Given the description of an element on the screen output the (x, y) to click on. 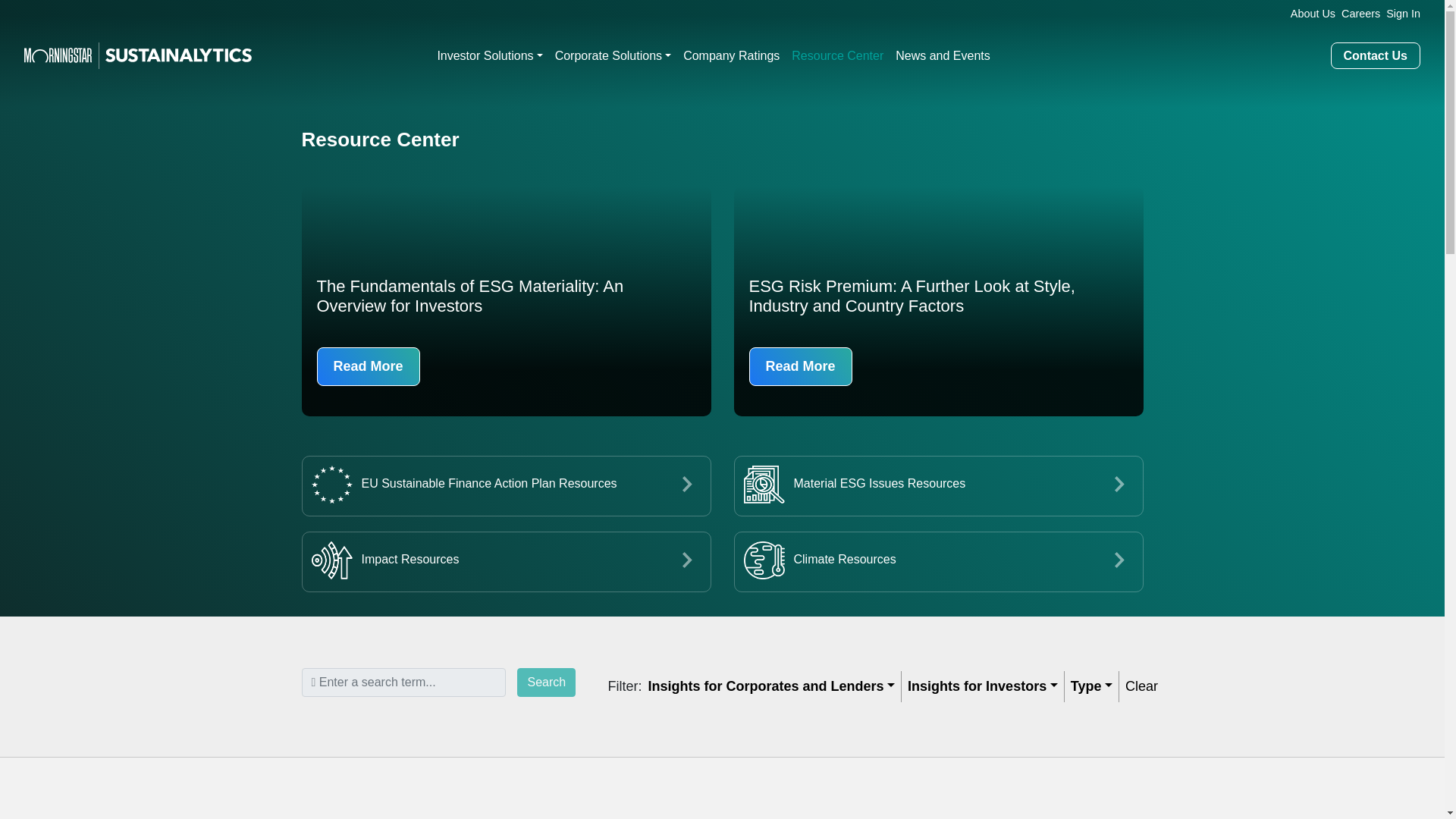
Sign In (1400, 14)
Investor Solutions (489, 55)
Search input (403, 682)
Corporate Solutions (613, 55)
Careers (1357, 14)
About Us (1309, 14)
